Given the description of an element on the screen output the (x, y) to click on. 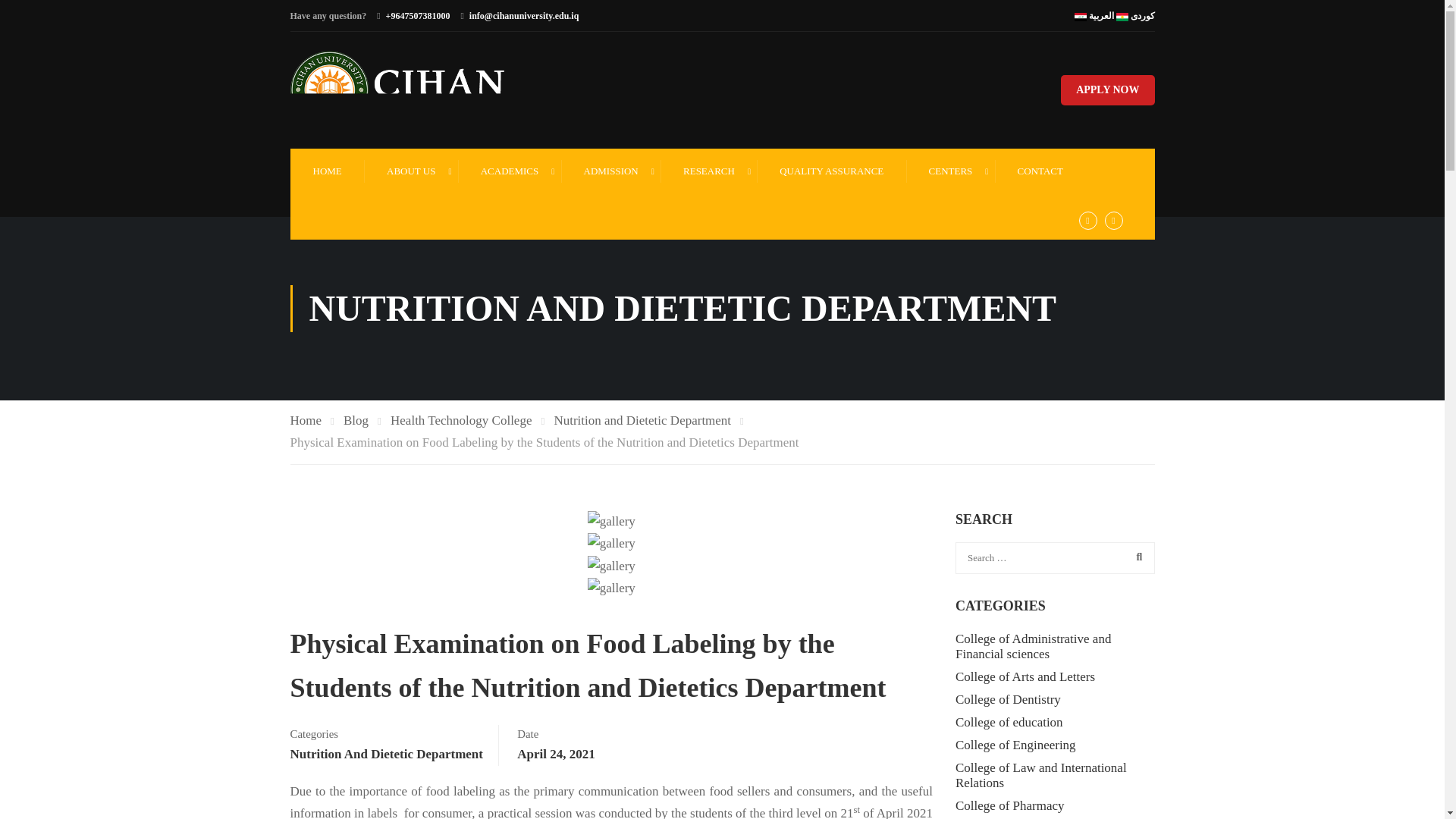
Search (1135, 557)
Search (1135, 557)
